Given the description of an element on the screen output the (x, y) to click on. 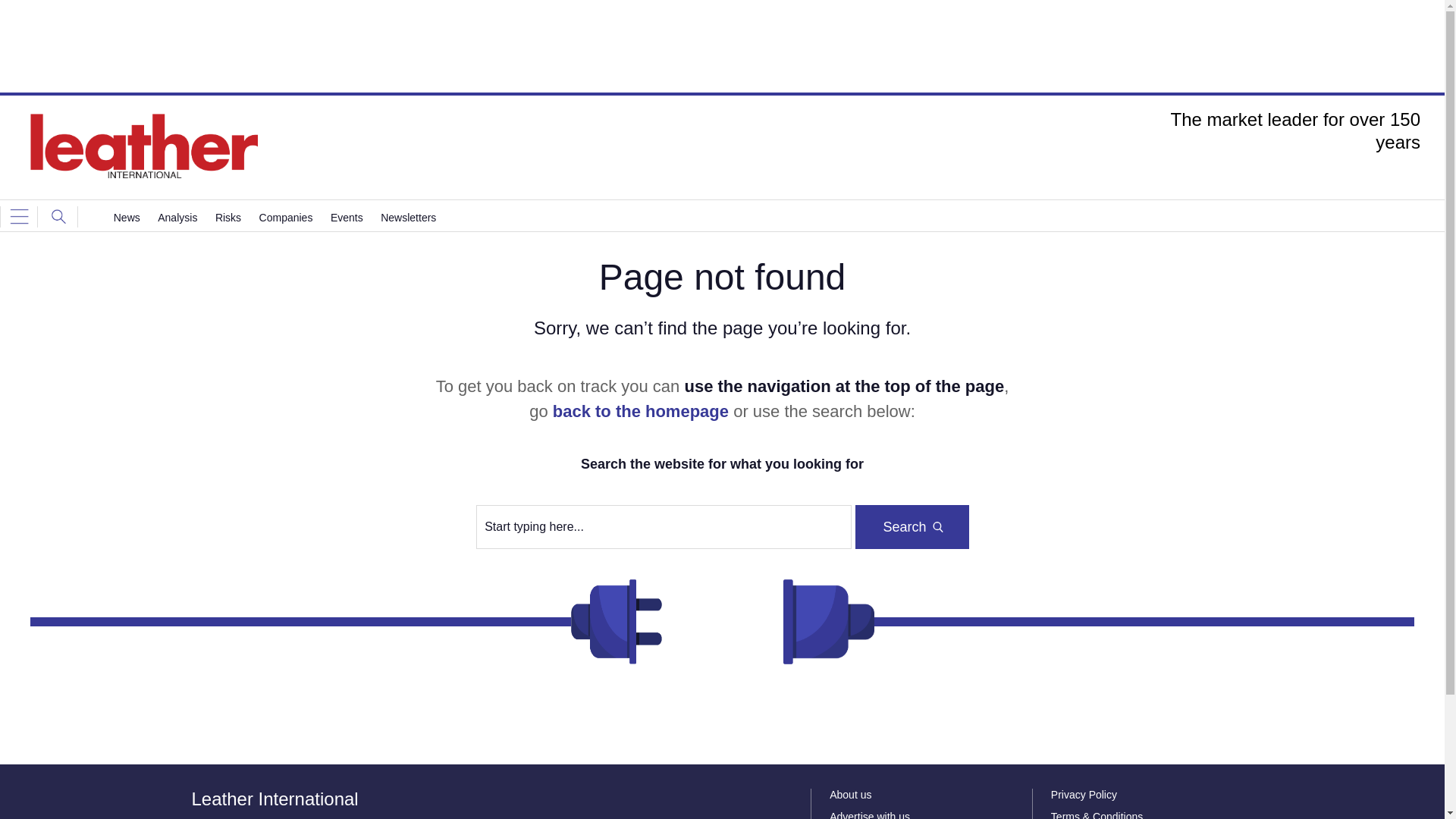
Events (346, 217)
Companies (286, 217)
3rd party ad content (721, 46)
Analysis (176, 217)
